Given the description of an element on the screen output the (x, y) to click on. 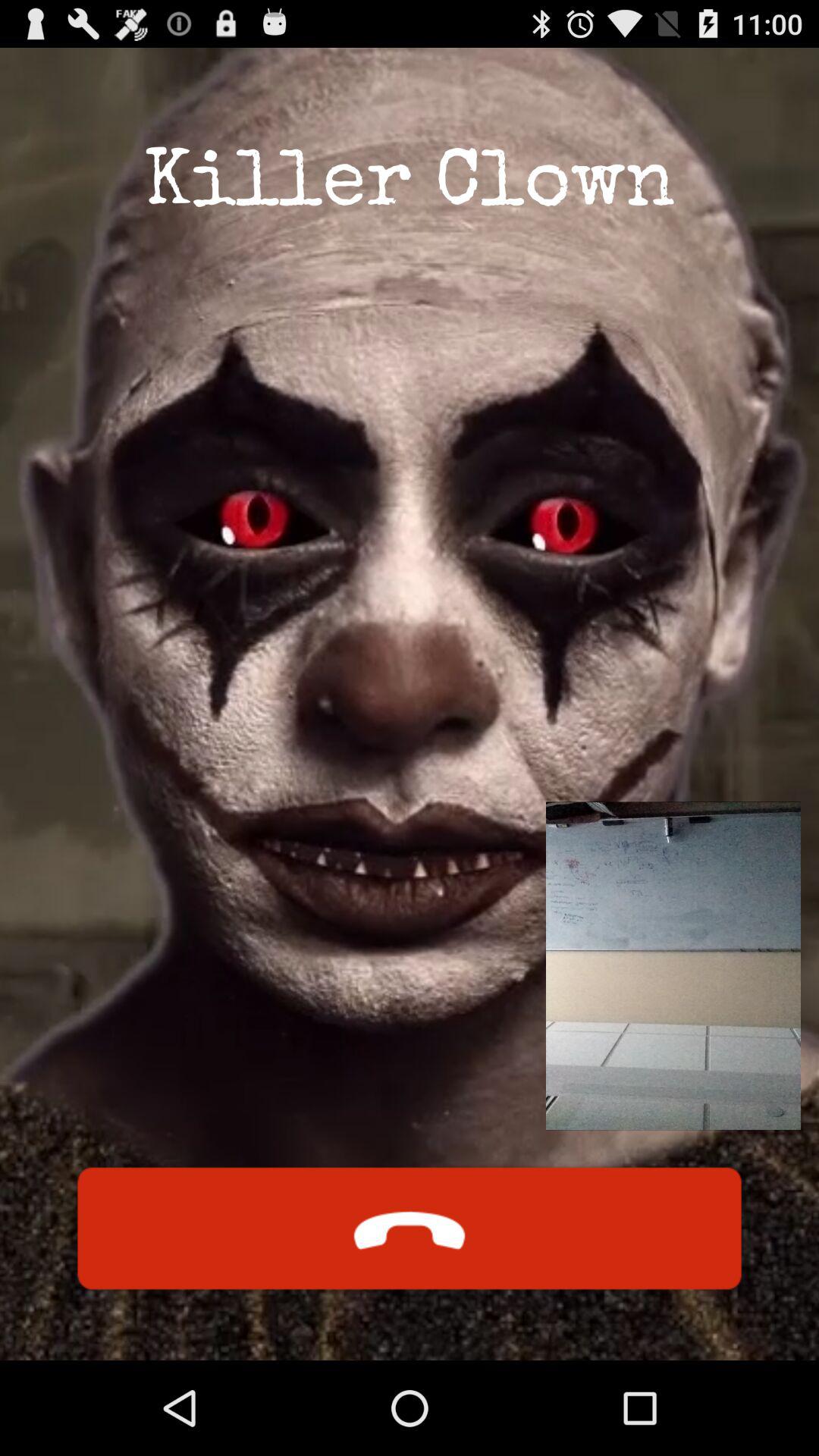
dial to call (409, 1228)
